Given the description of an element on the screen output the (x, y) to click on. 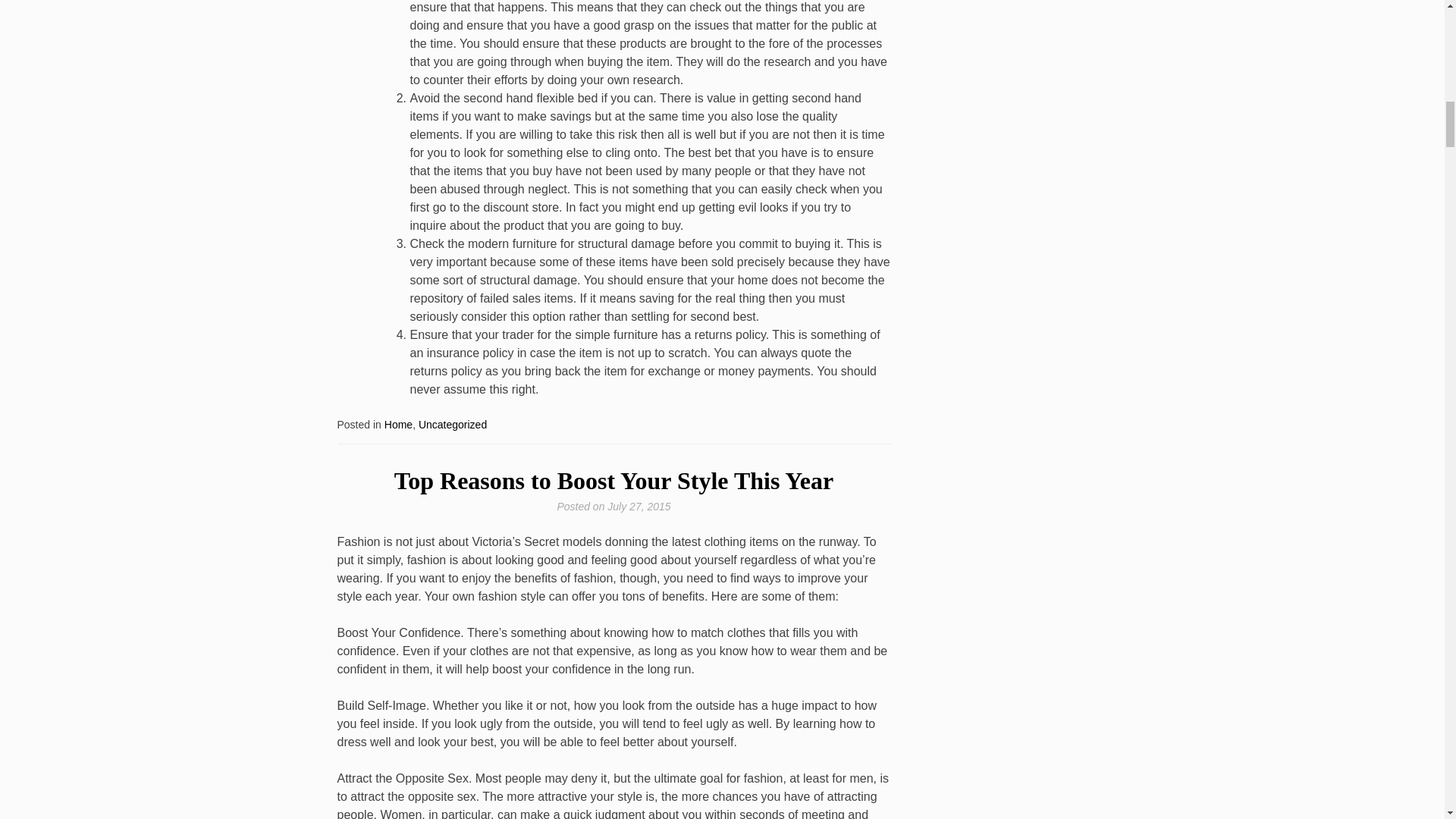
Uncategorized (452, 424)
Home (398, 424)
Top Reasons to Boost Your Style This Year (613, 480)
July 27, 2015 (638, 506)
